Given the description of an element on the screen output the (x, y) to click on. 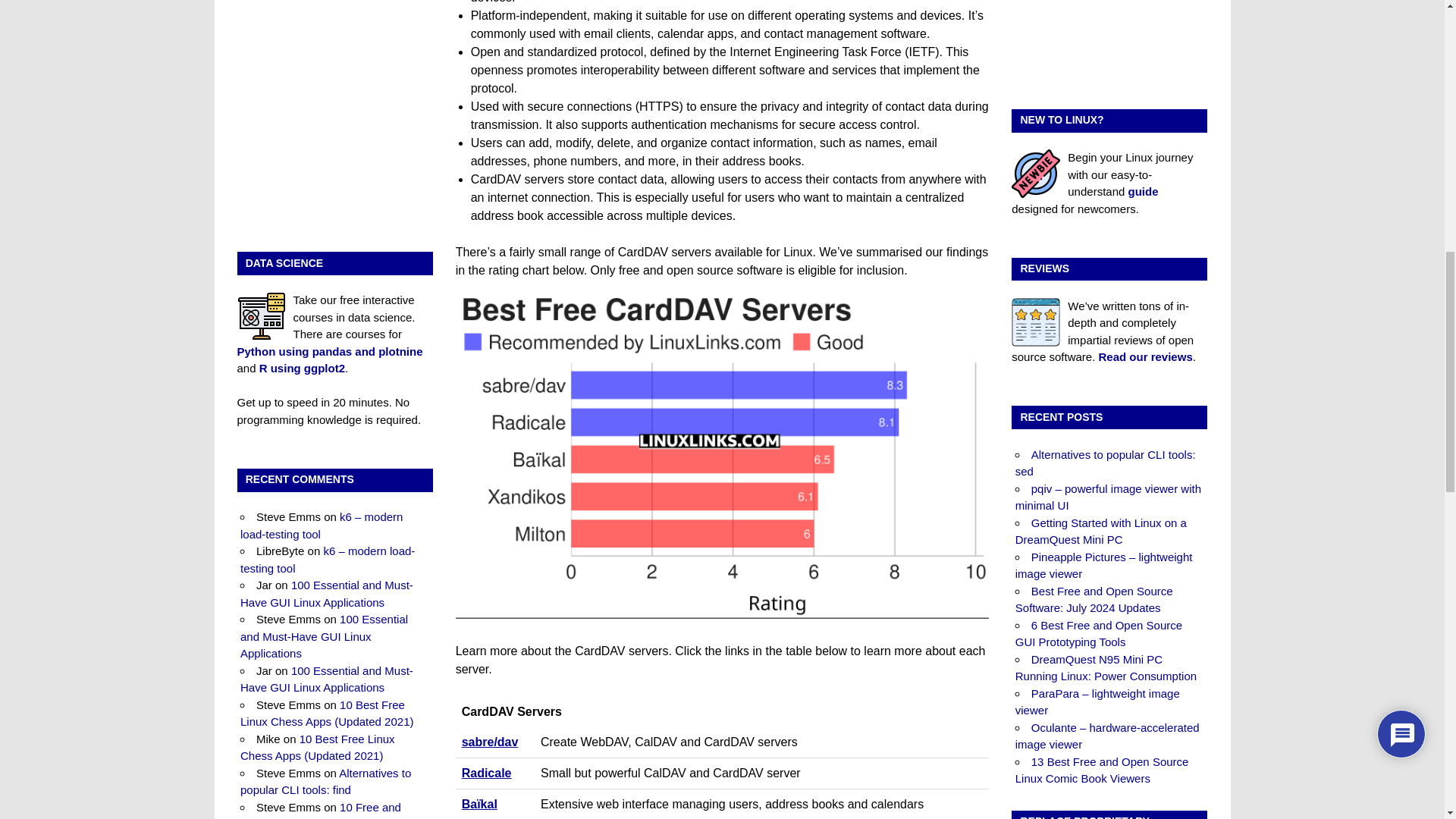
Radicale (486, 772)
